Given the description of an element on the screen output the (x, y) to click on. 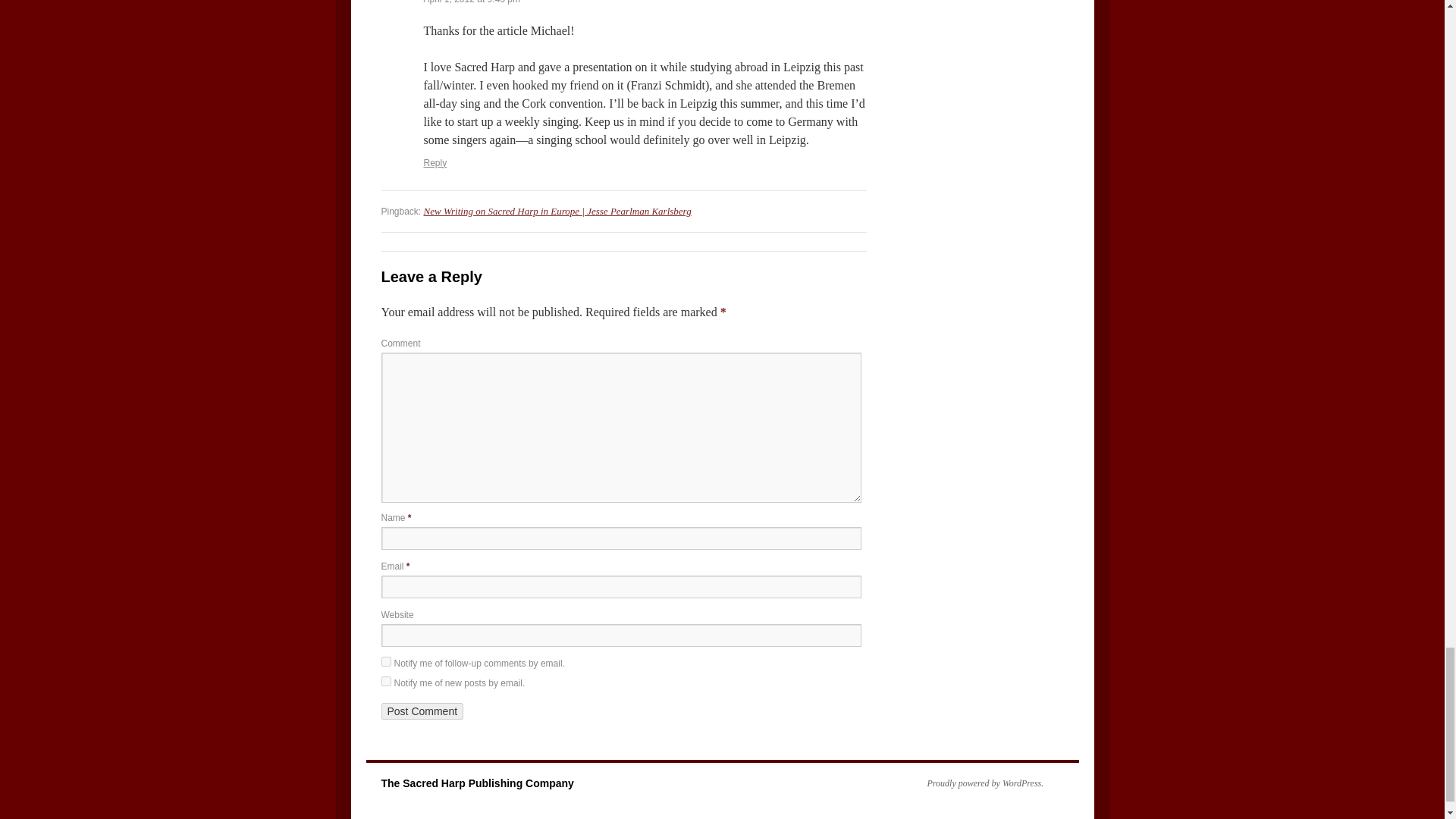
Post Comment (421, 710)
subscribe (385, 661)
subscribe (385, 681)
